Given the description of an element on the screen output the (x, y) to click on. 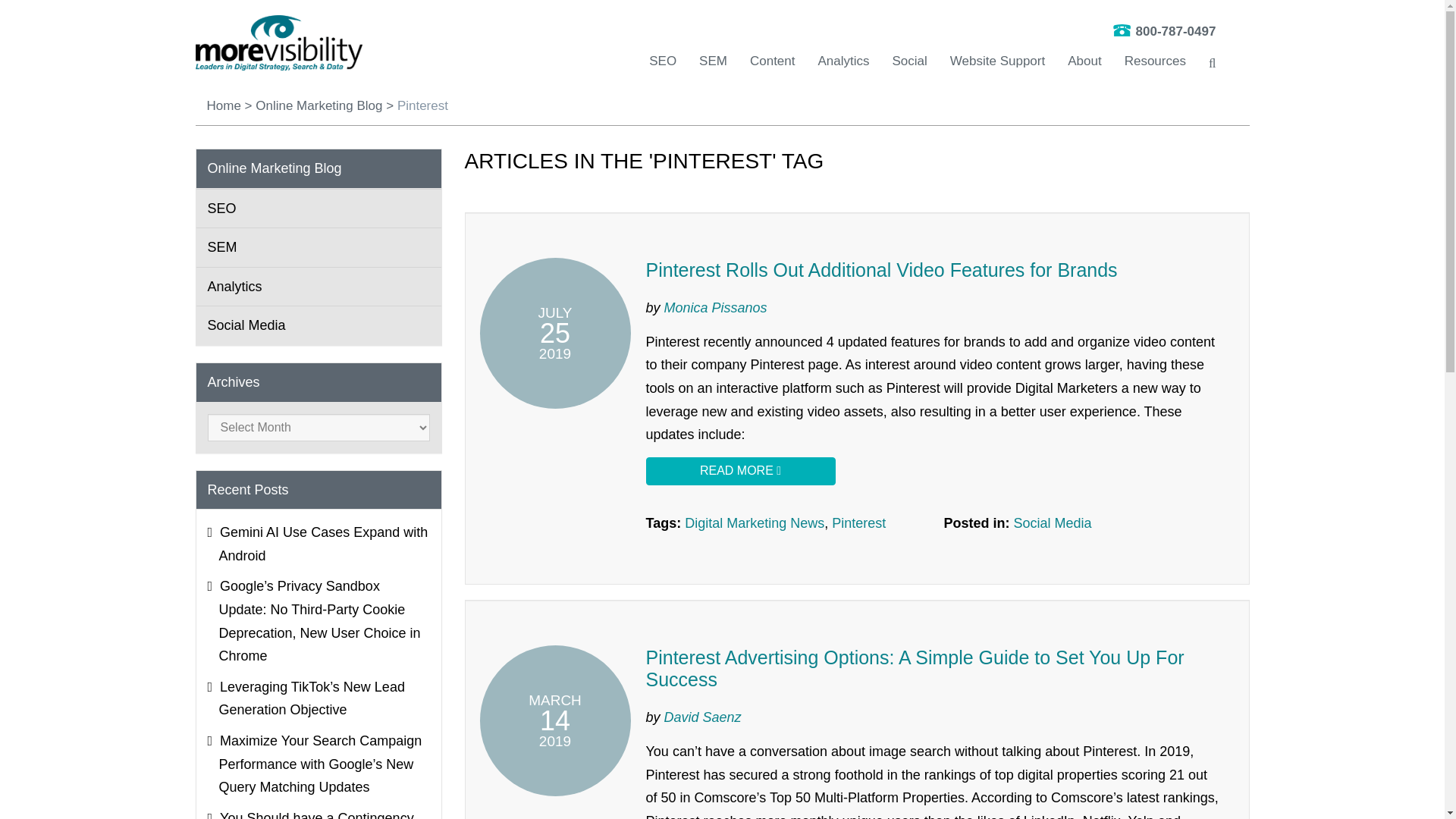
Analytics (842, 60)
Website Support (997, 60)
Go to Online Marketing Blog. (318, 105)
About (1083, 60)
SEM (712, 60)
Go to MoreVisibility. (223, 105)
Social (909, 60)
SEO (663, 60)
